Given the description of an element on the screen output the (x, y) to click on. 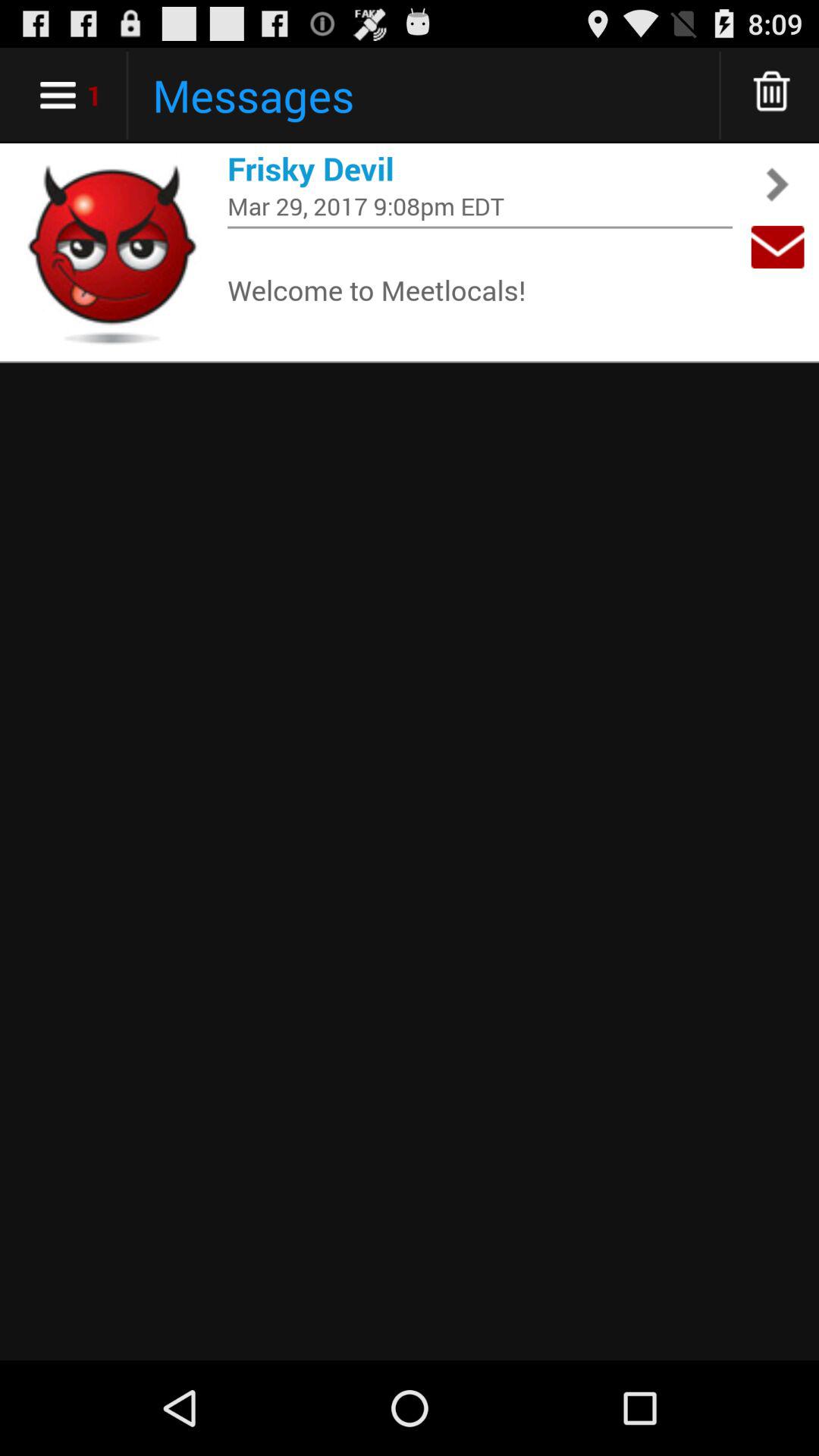
delete (772, 95)
